Given the description of an element on the screen output the (x, y) to click on. 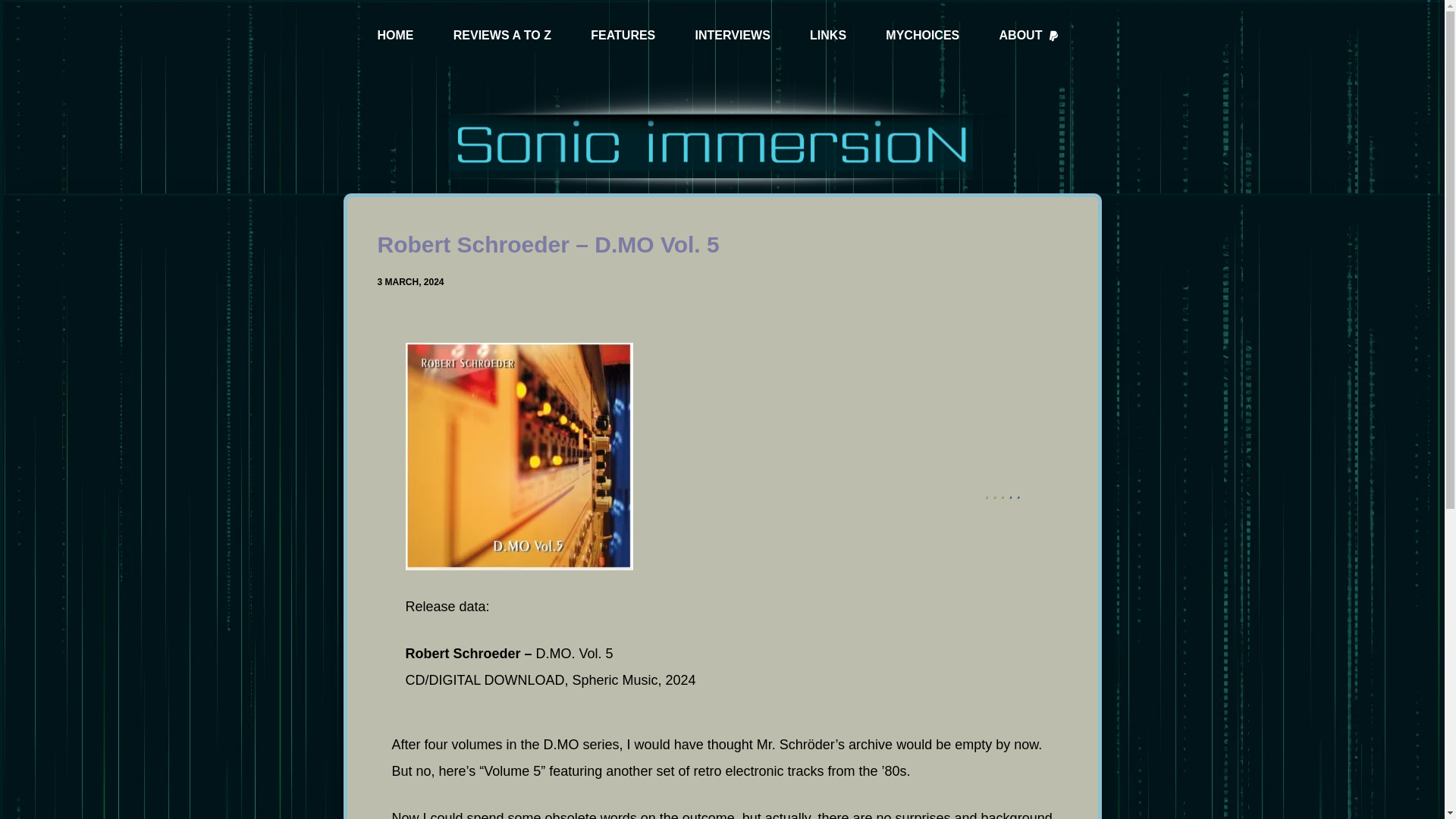
MYCHOICES (921, 36)
LINKS (827, 36)
INTERVIEWS (732, 36)
FEATURES (622, 36)
REVIEWS A TO Z (502, 36)
CreativeThemes (774, 793)
HOME (395, 36)
ABOUT (1029, 36)
Skip to content (15, 7)
